Given the description of an element on the screen output the (x, y) to click on. 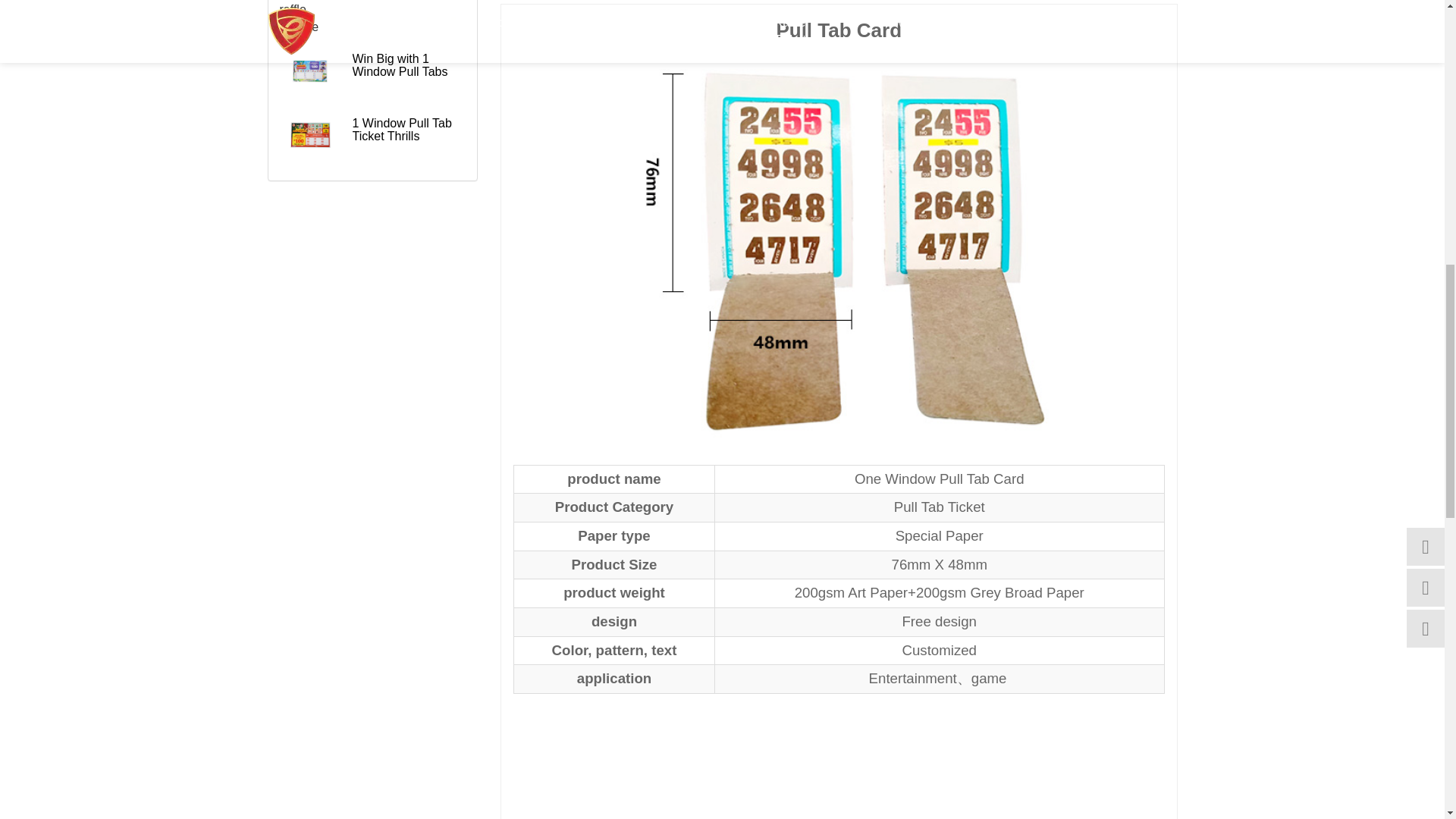
Win Big with 1 Window Pull Tabs (309, 70)
1 Window Pull Tab Ticket Thrills (309, 134)
5 windows pull tab tickets raffle chance (309, 18)
